Given the description of an element on the screen output the (x, y) to click on. 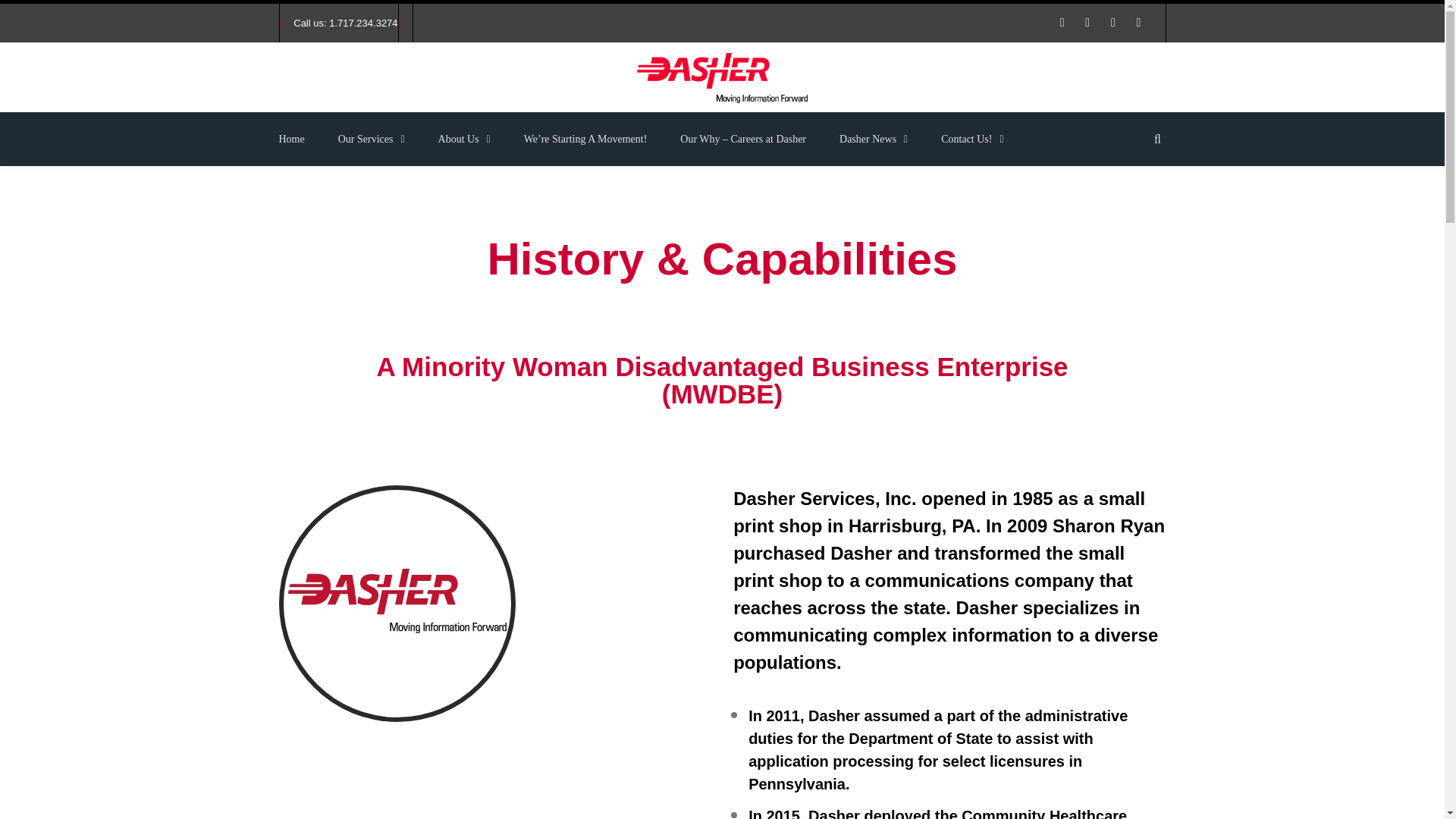
About Us (464, 139)
Dasher News (873, 139)
Contact Us! (972, 139)
Home (300, 139)
Dasher Services, Inc. (722, 78)
Basic CMYK (397, 603)
Our Services (371, 139)
